Given the description of an element on the screen output the (x, y) to click on. 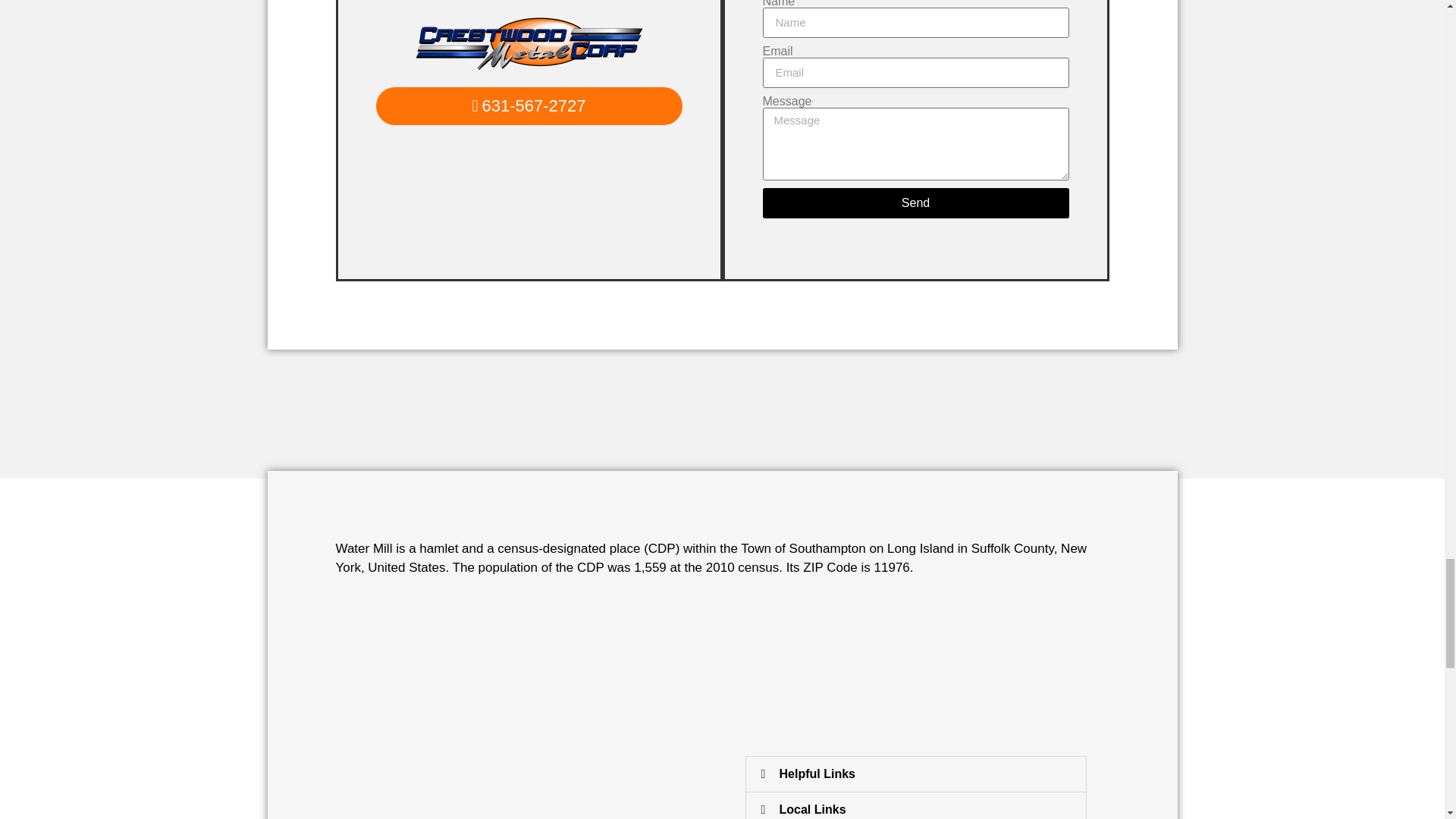
Helpful Links (817, 773)
Local Links (811, 809)
631-567-2727 (528, 105)
Send (915, 203)
